Given the description of an element on the screen output the (x, y) to click on. 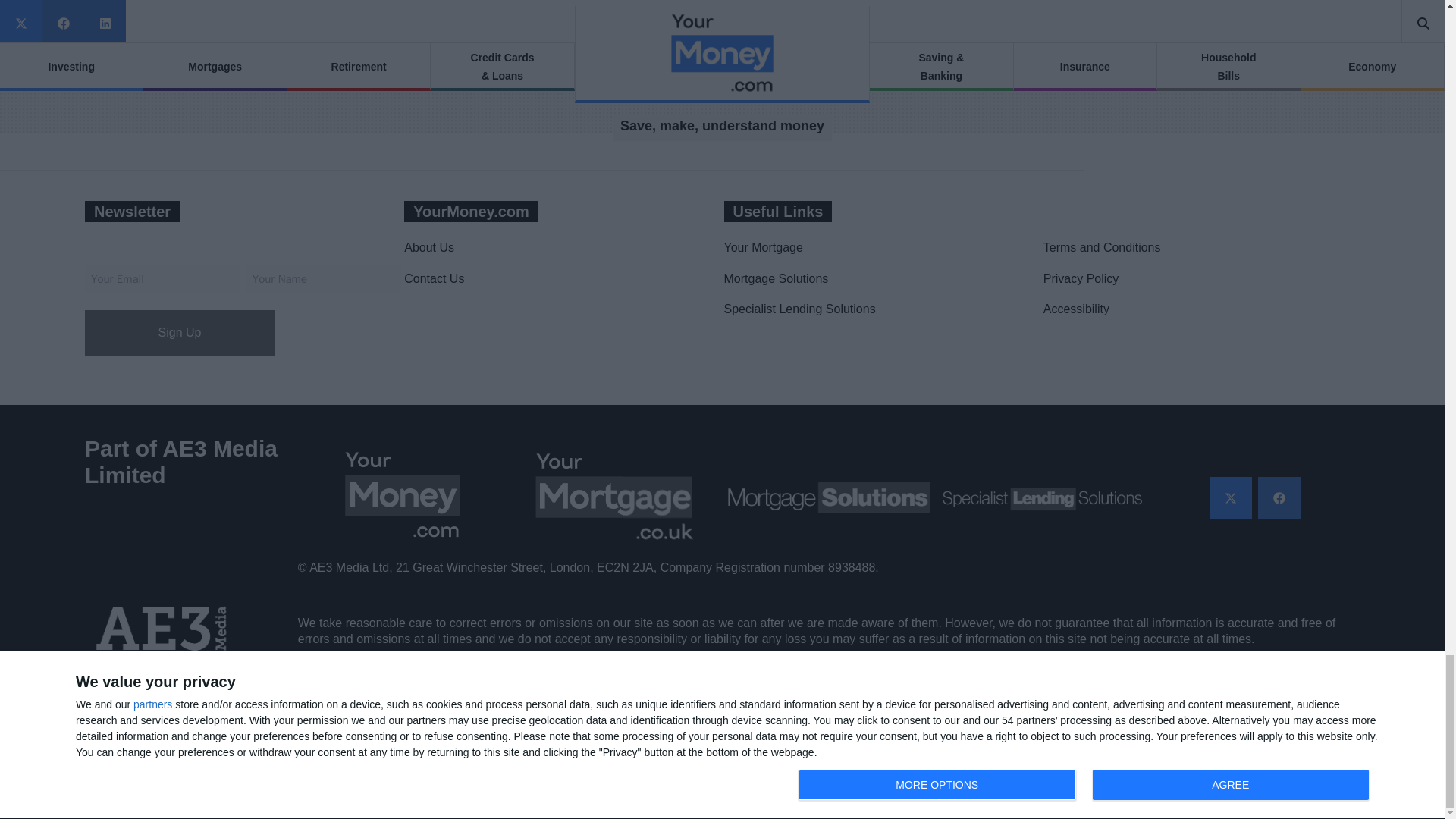
Sign Up (179, 333)
